Given the description of an element on the screen output the (x, y) to click on. 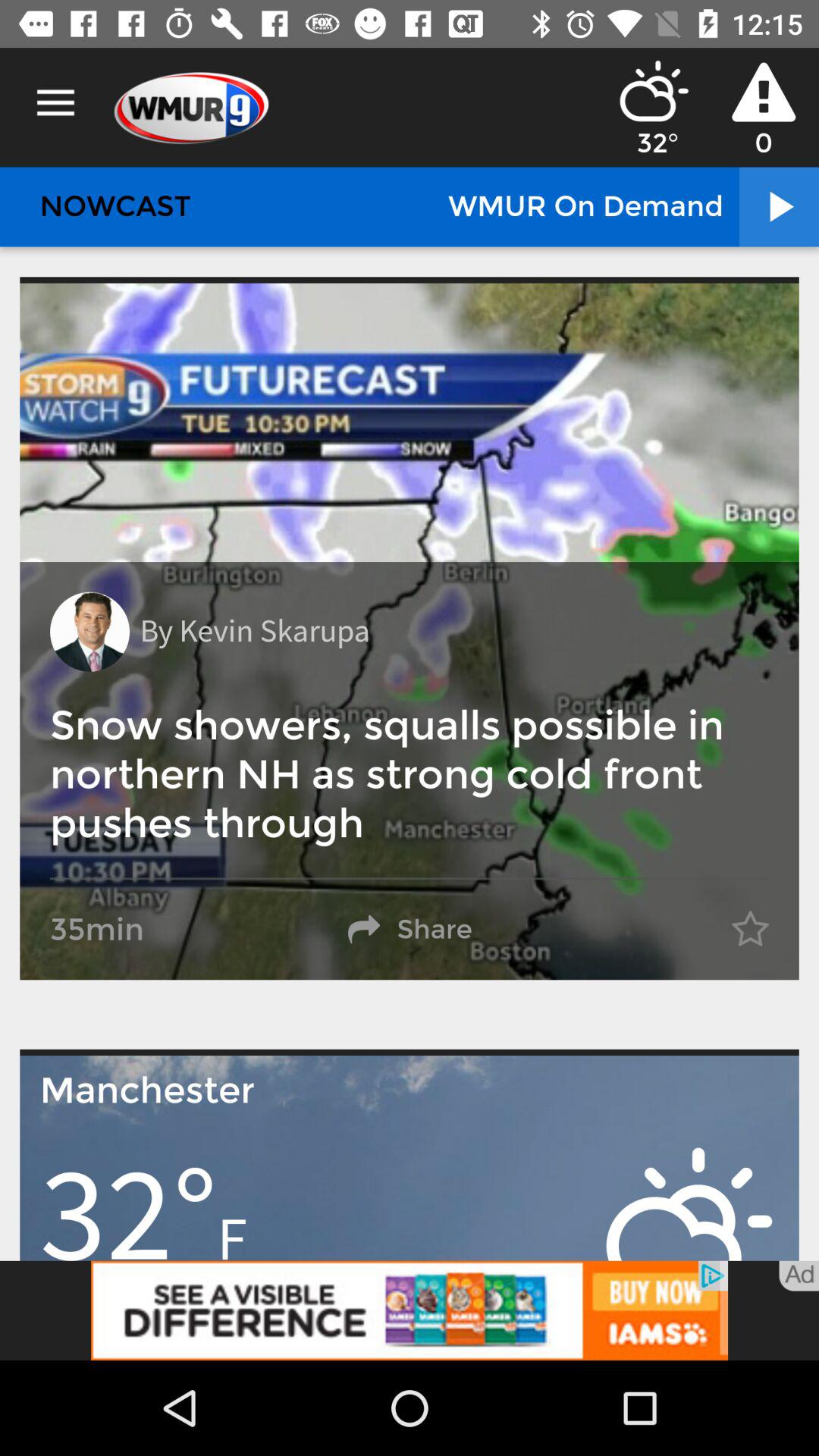
advertisement (409, 1310)
